Given the description of an element on the screen output the (x, y) to click on. 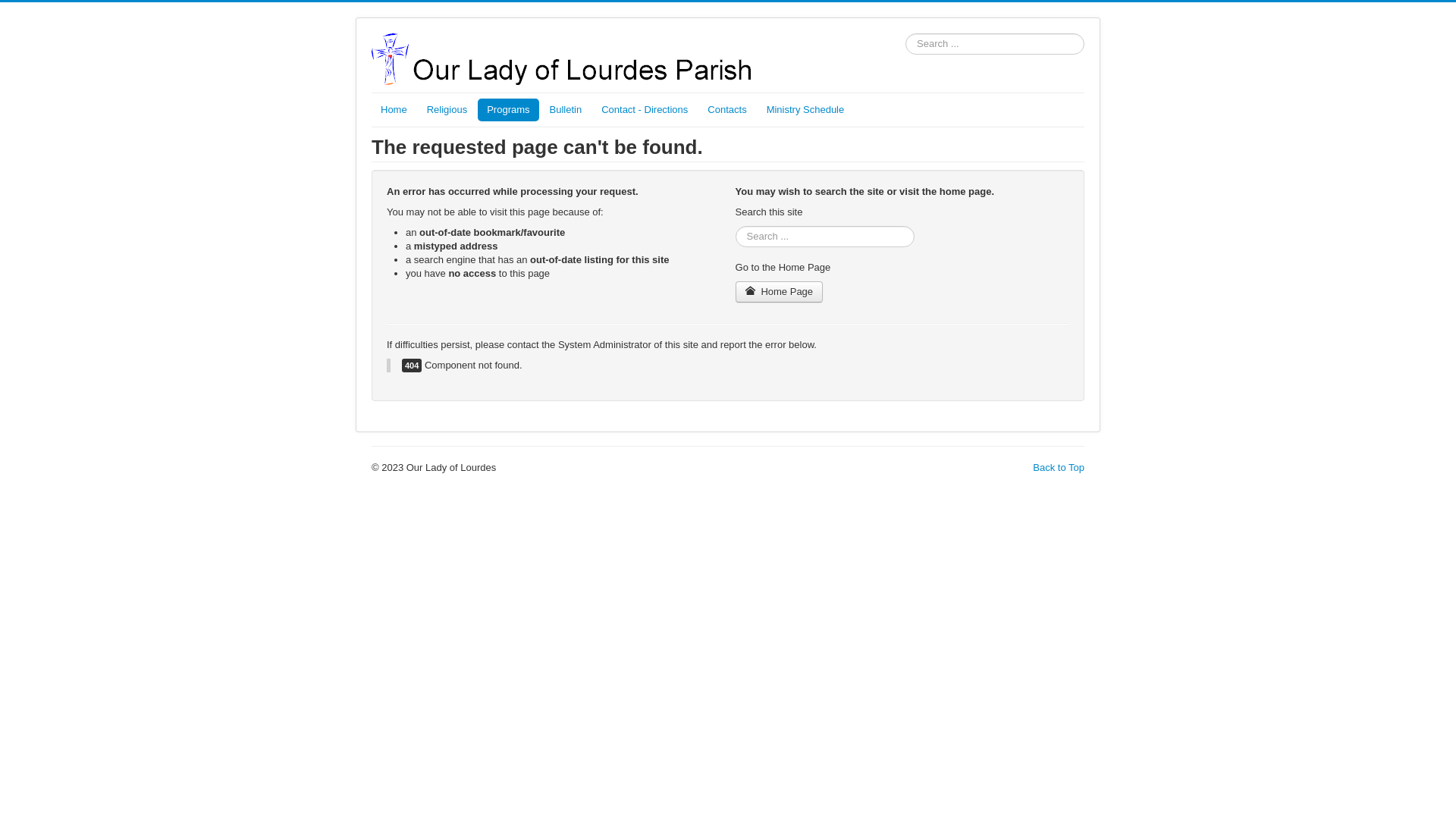
Programs Element type: text (507, 109)
Religious Element type: text (446, 109)
Contact - Directions Element type: text (644, 109)
Home Element type: text (393, 109)
Back to Top Element type: text (1058, 467)
Bulletin Element type: text (565, 109)
Contacts Element type: text (726, 109)
Ministry Schedule Element type: text (805, 109)
Home Page Element type: text (779, 291)
